Given the description of an element on the screen output the (x, y) to click on. 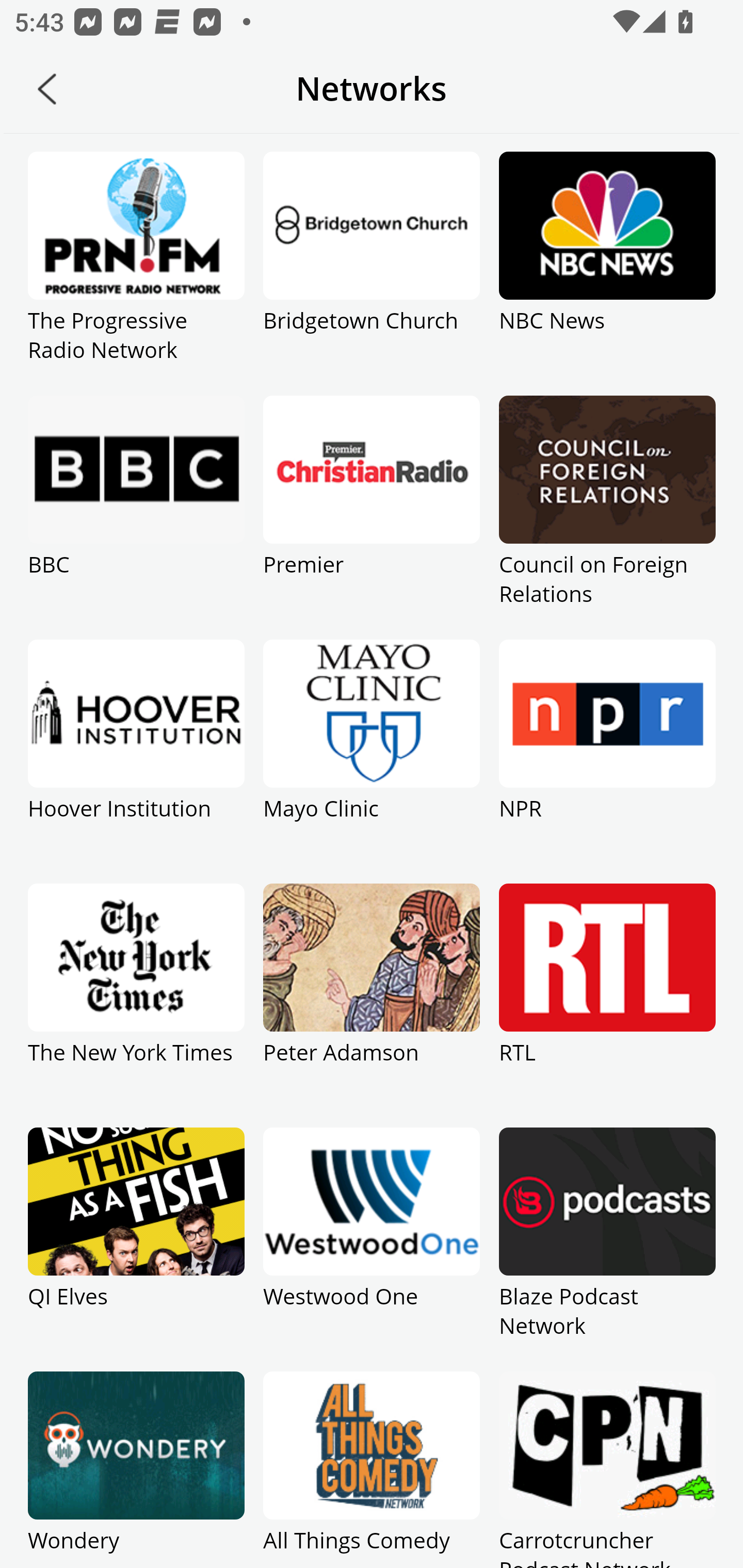
Back (46, 88)
The Progressive Radio Network (135, 273)
Bridgetown Church (371, 273)
NBC News (606, 273)
BBC (135, 517)
Premier (371, 517)
Council on Foreign Relations (606, 517)
Hoover Institution (135, 760)
Mayo Clinic (371, 760)
NPR (606, 760)
The New York Times (135, 1004)
Peter Adamson (371, 1004)
RTL (606, 1004)
QI Elves (135, 1249)
Westwood One (371, 1249)
Blaze Podcast Network (606, 1249)
Wondery (135, 1470)
All Things Comedy (371, 1470)
Carrotcruncher Podcast Network (606, 1470)
